Given the description of an element on the screen output the (x, y) to click on. 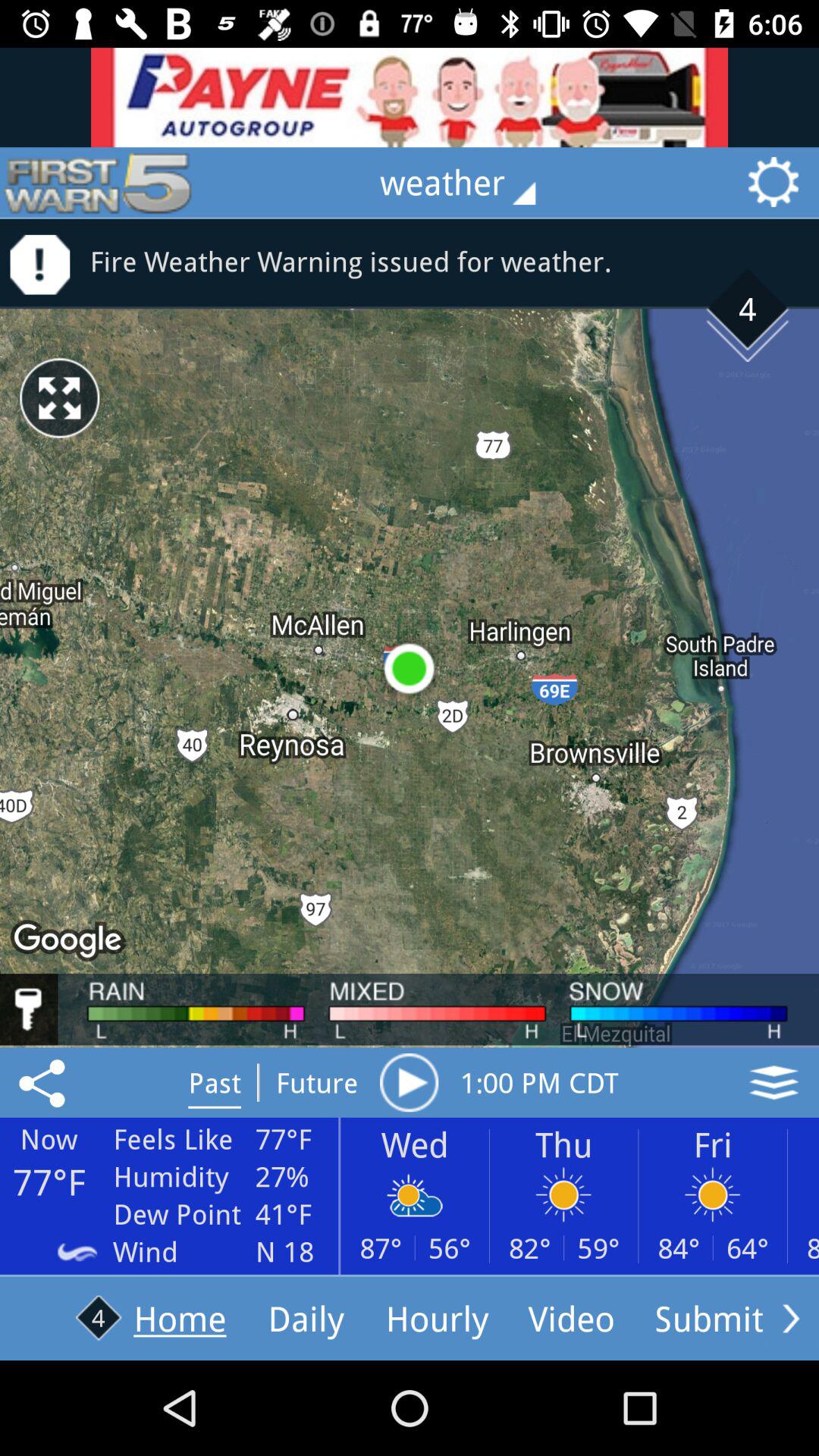
see more options (791, 1318)
